Given the description of an element on the screen output the (x, y) to click on. 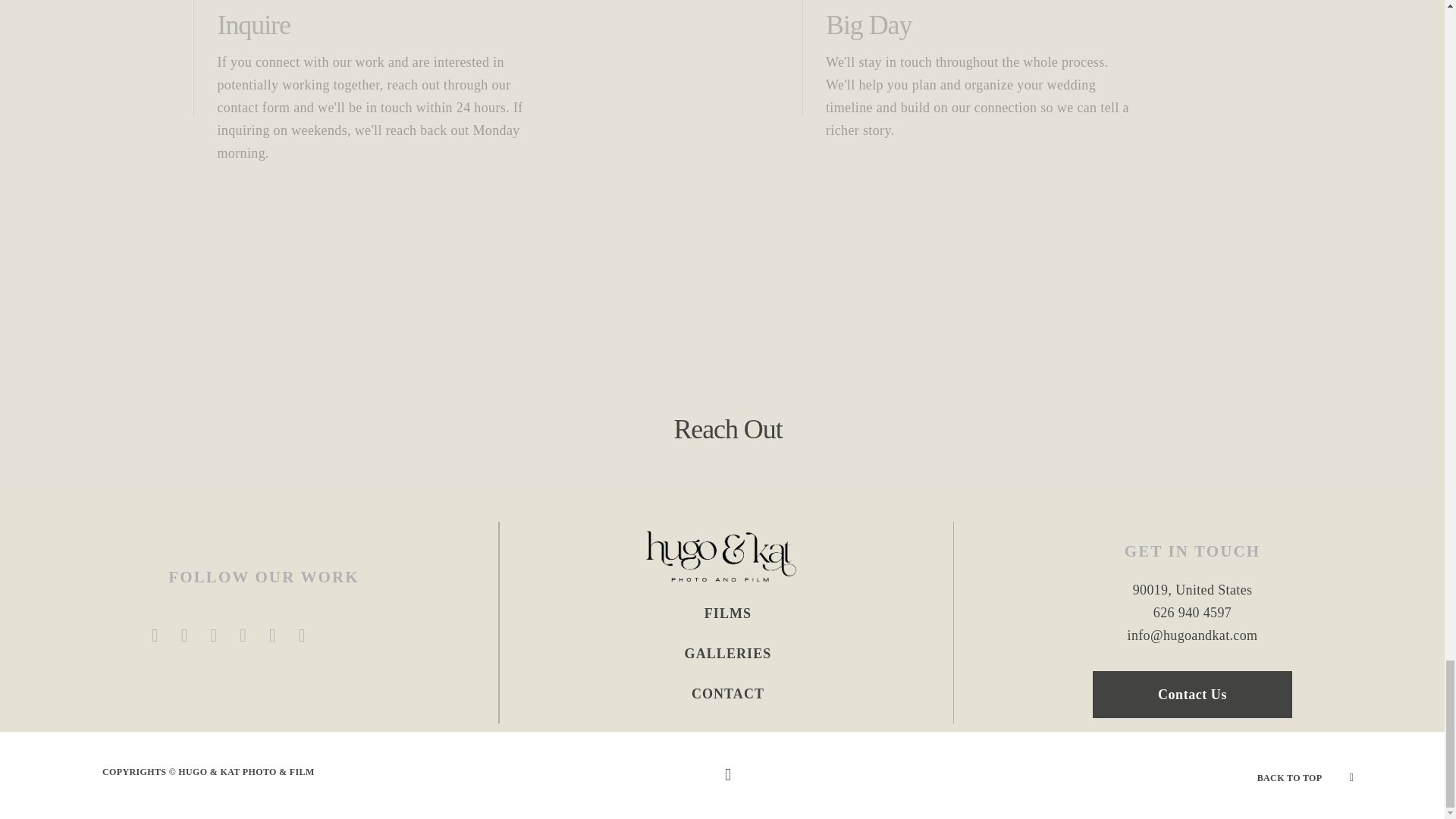
FILMS (727, 613)
BACK TO TOP (1289, 776)
GALLERIES (727, 653)
BACK TO TOP (1305, 774)
Reach Out (727, 428)
Contact Us (1192, 694)
CONTACT (727, 693)
